Given the description of an element on the screen output the (x, y) to click on. 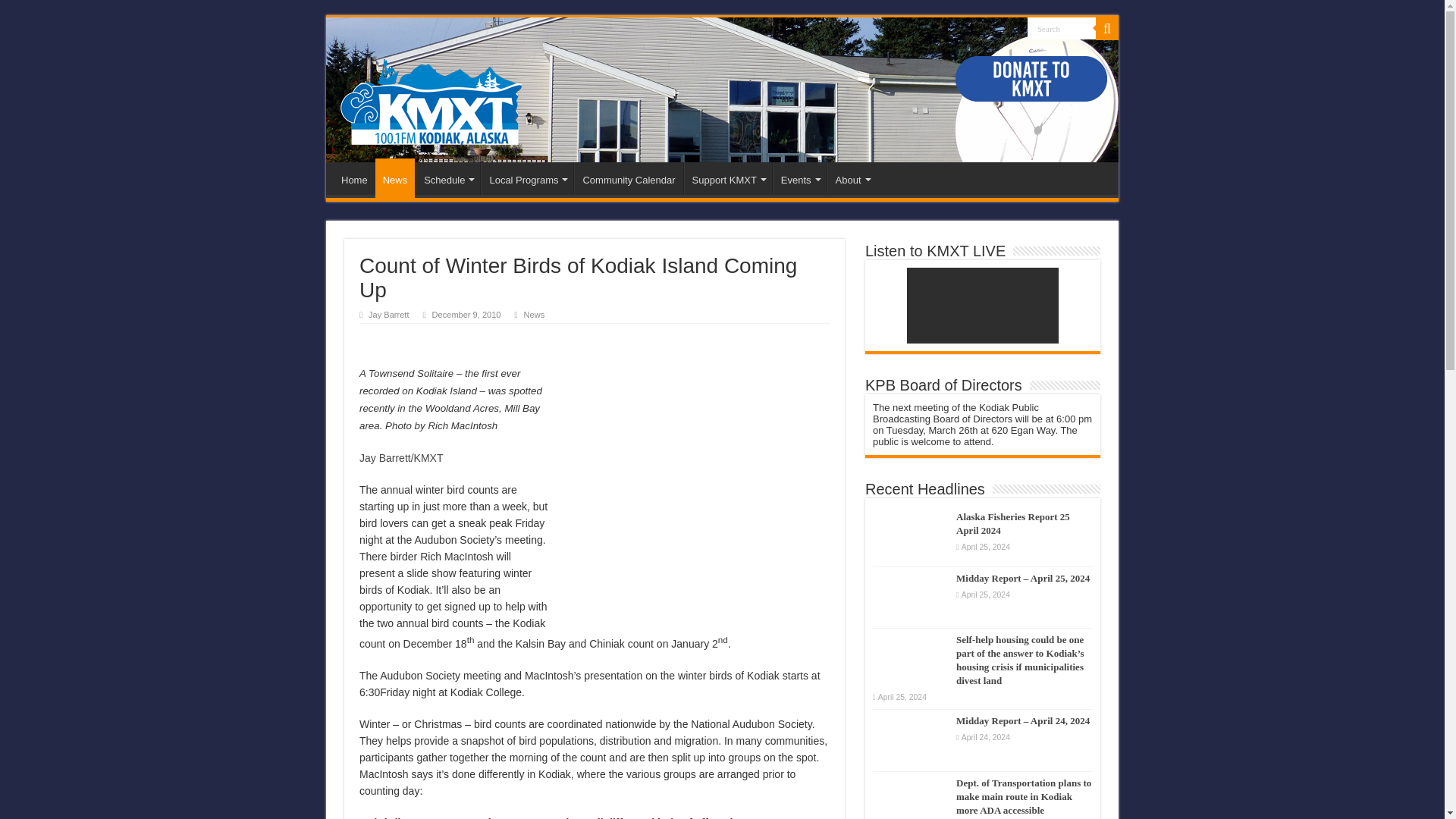
Search (1061, 28)
KMXT 100.1 FM (430, 98)
Search (1061, 28)
Play (368, 339)
Search (1061, 28)
